Given the description of an element on the screen output the (x, y) to click on. 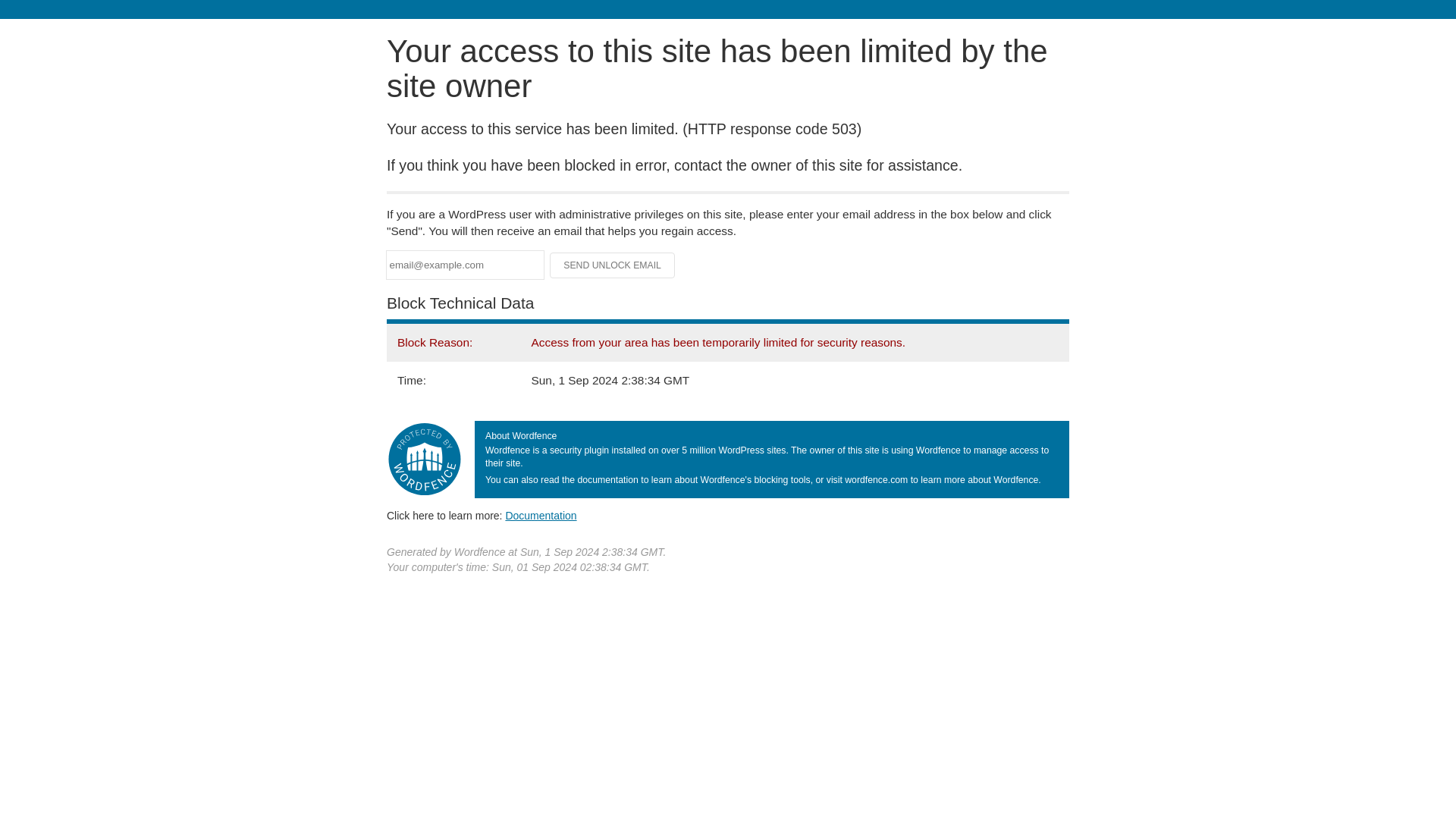
Send Unlock Email (612, 265)
Send Unlock Email (612, 265)
Documentation (540, 515)
